Given the description of an element on the screen output the (x, y) to click on. 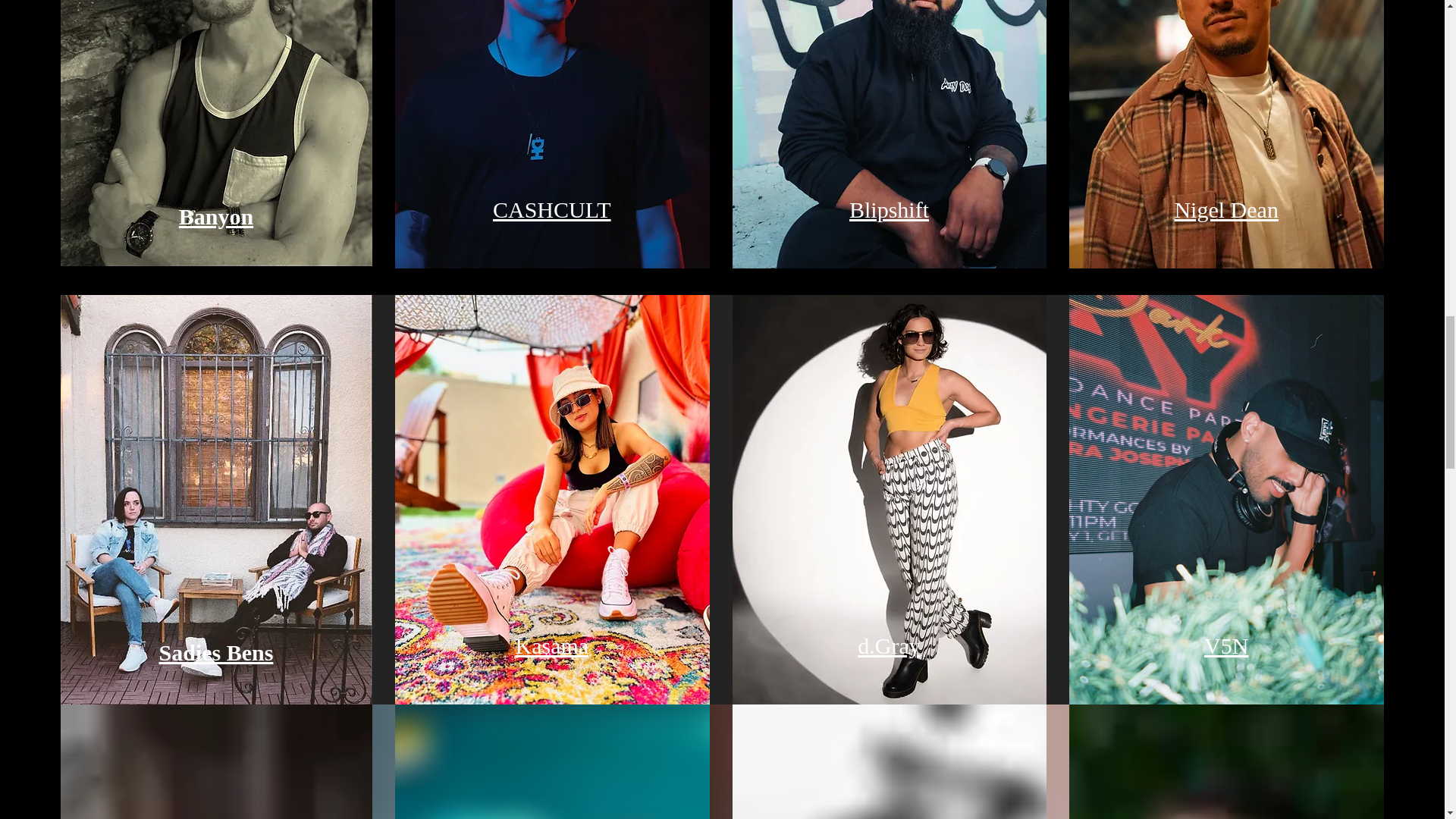
Banyon (216, 216)
V5N (1225, 645)
d.Gray (888, 645)
Blipshift (888, 209)
CASHCULT (552, 209)
Nigel Dean (1225, 209)
Sadies Bens (215, 652)
Kasama (551, 645)
